Given the description of an element on the screen output the (x, y) to click on. 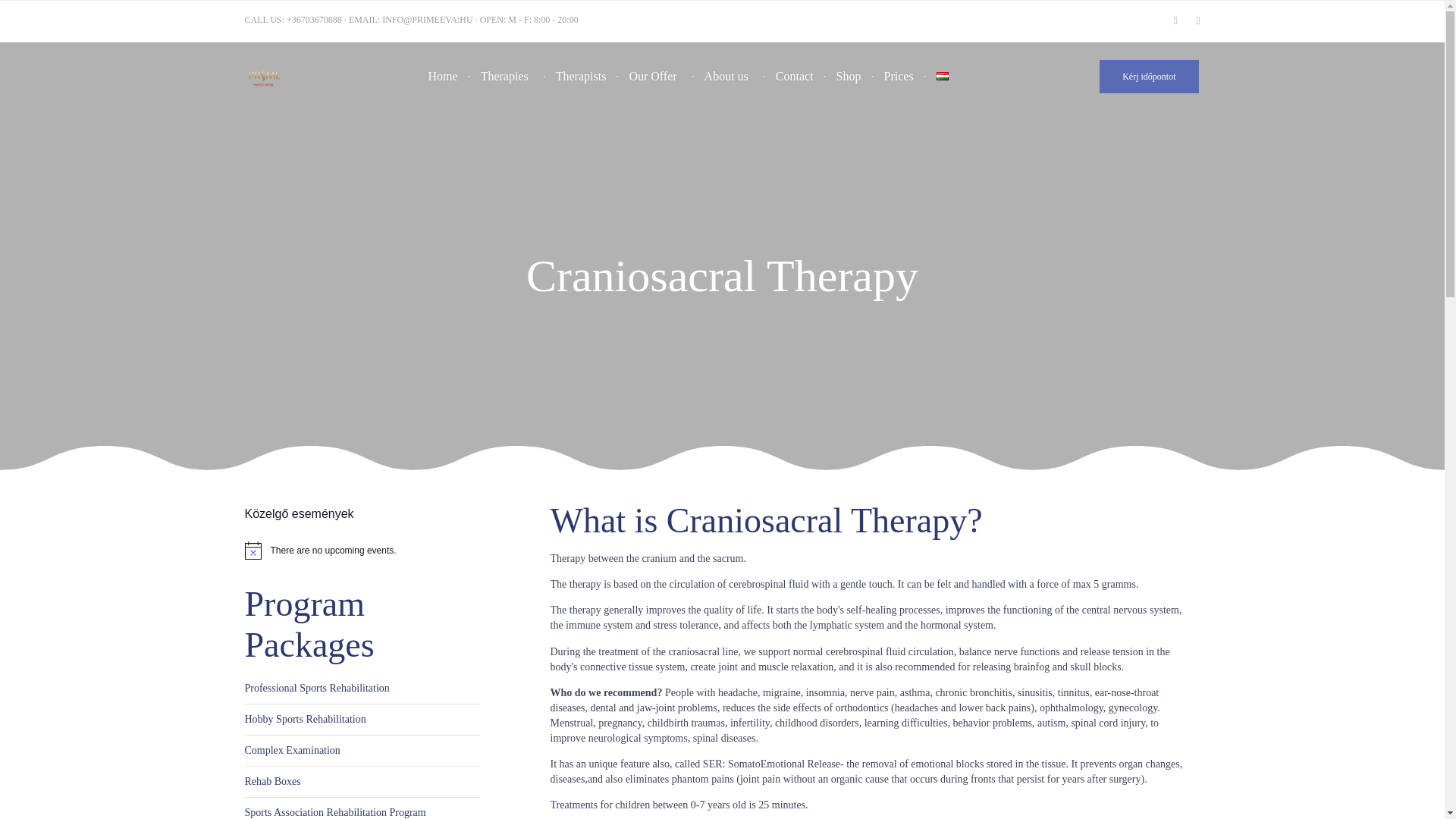
Our Offer (655, 76)
PRIME PHYSIO BY EVA (263, 75)
About us (728, 76)
Therapists (580, 76)
Therapies (506, 76)
Contact (794, 76)
